Given the description of an element on the screen output the (x, y) to click on. 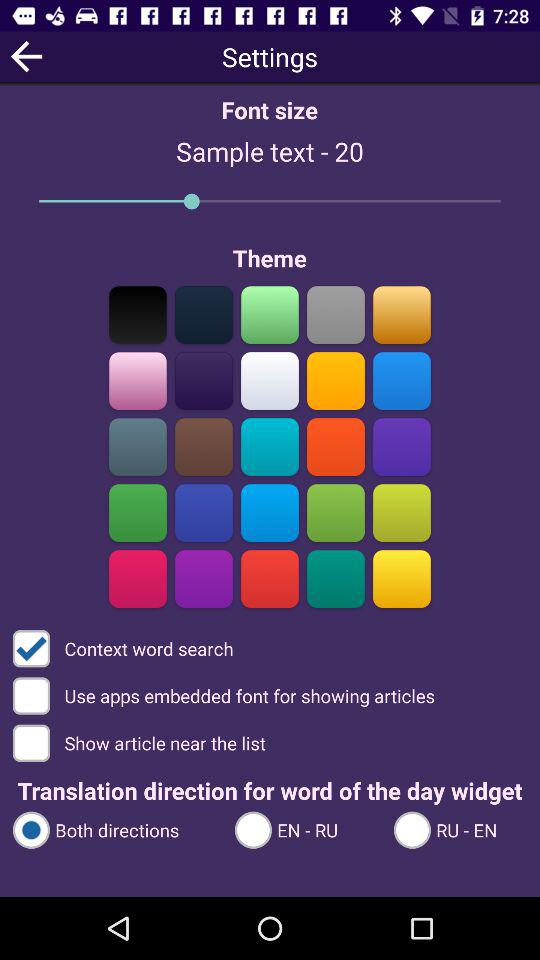
colour of the theme (269, 380)
